Given the description of an element on the screen output the (x, y) to click on. 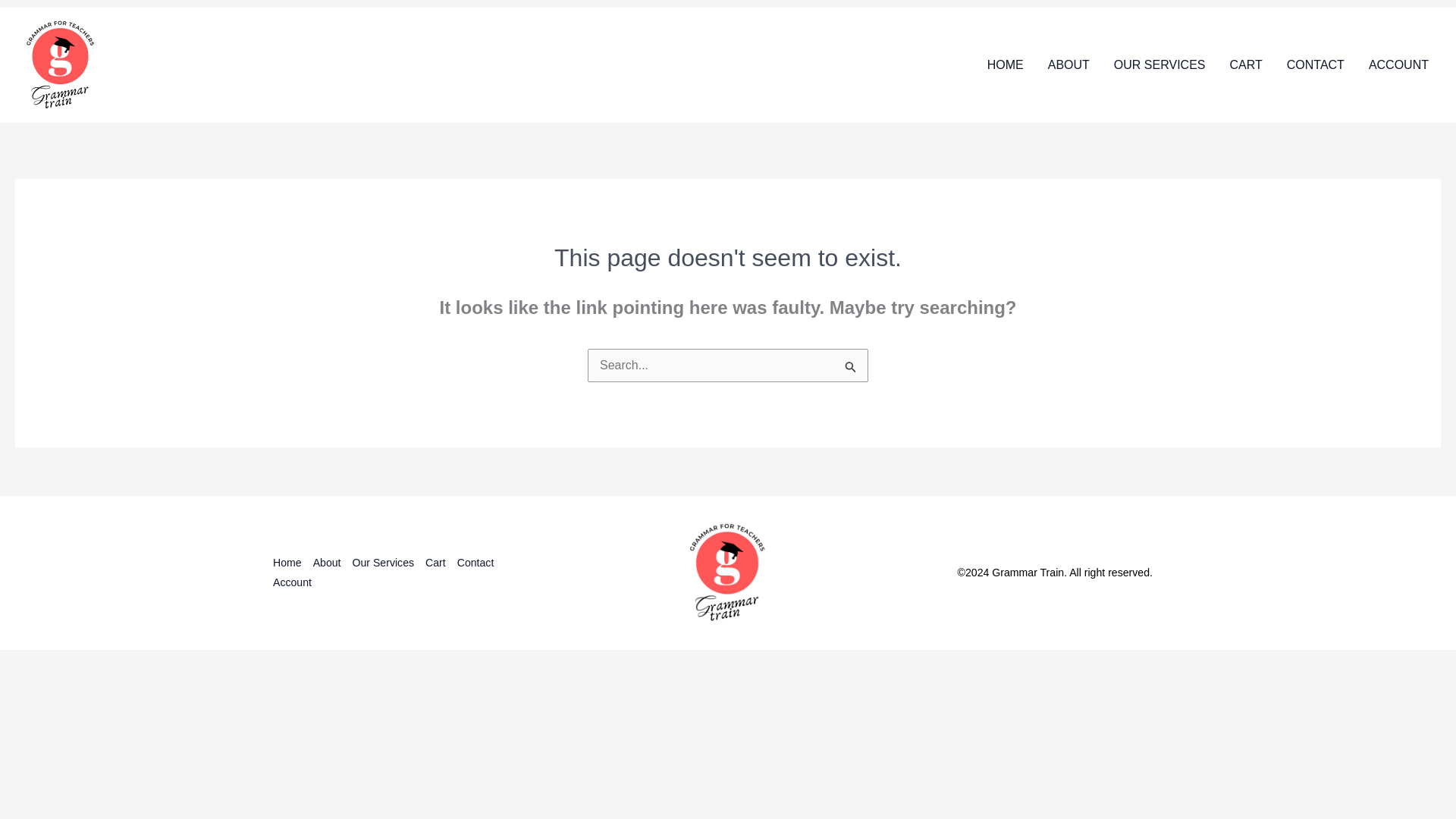
Account (298, 582)
Contact (481, 562)
Cart (441, 562)
Home (293, 562)
HOME (1005, 65)
CONTACT (1315, 65)
CART (1245, 65)
ABOUT (1068, 65)
Our Services (389, 562)
ACCOUNT (1398, 65)
